Given the description of an element on the screen output the (x, y) to click on. 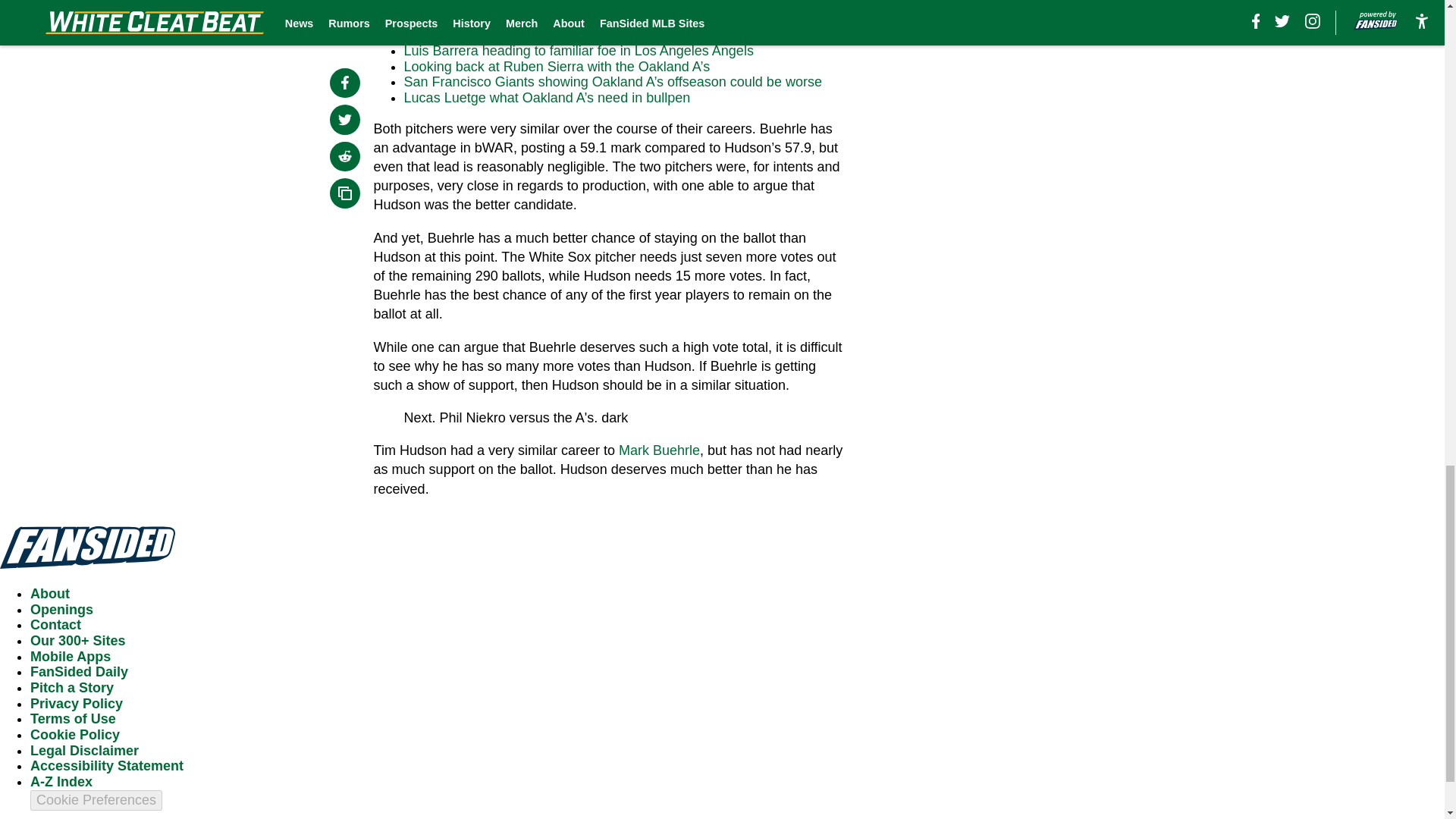
Mark Buehrle (659, 450)
Openings (61, 609)
About (49, 593)
Luis Barrera heading to familiar foe in Los Angeles Angels (579, 50)
